Given the description of an element on the screen output the (x, y) to click on. 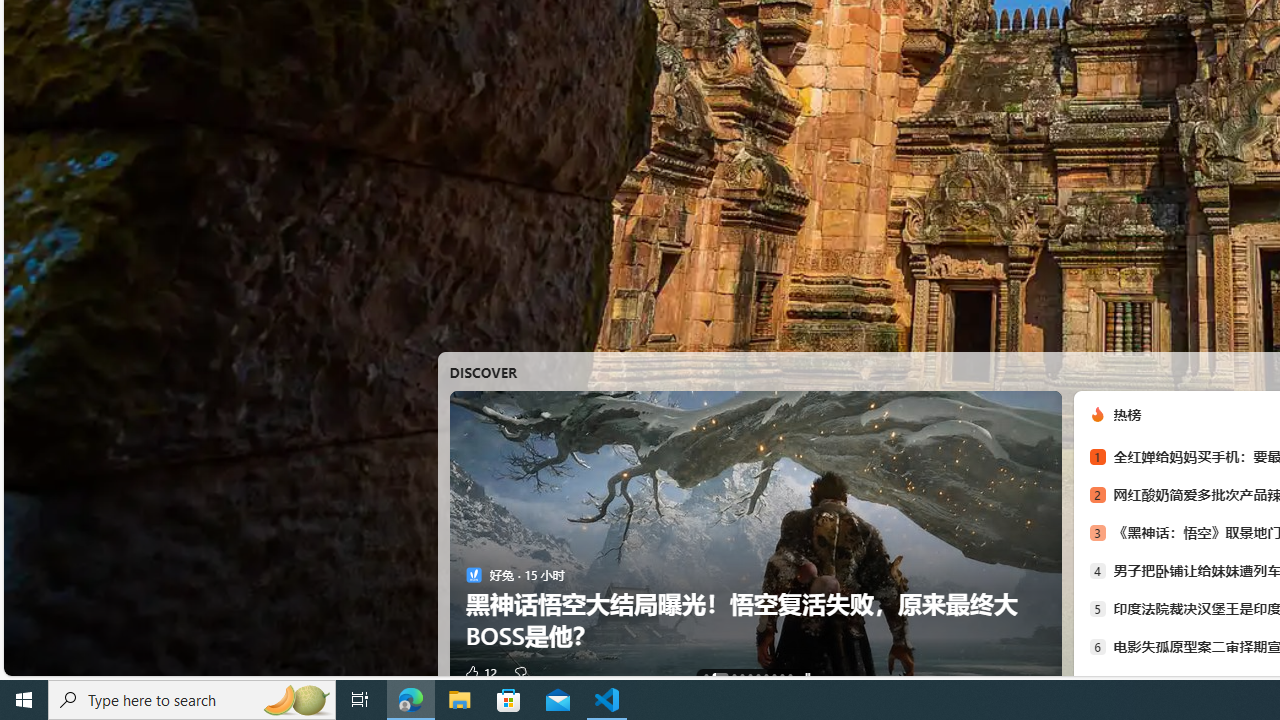
AutomationID: tab-1 (719, 675)
AutomationID: tab-5 (757, 675)
AutomationID: tab-9 (789, 675)
AutomationID: tab-7 (774, 675)
AutomationID: tab-2 (733, 675)
AutomationID: tab-4 (749, 675)
AutomationID: tab-0 (705, 675)
AutomationID: tab-6 (765, 675)
AutomationID: tab-3 (742, 675)
AutomationID: tab-8 (781, 675)
